Given the description of an element on the screen output the (x, y) to click on. 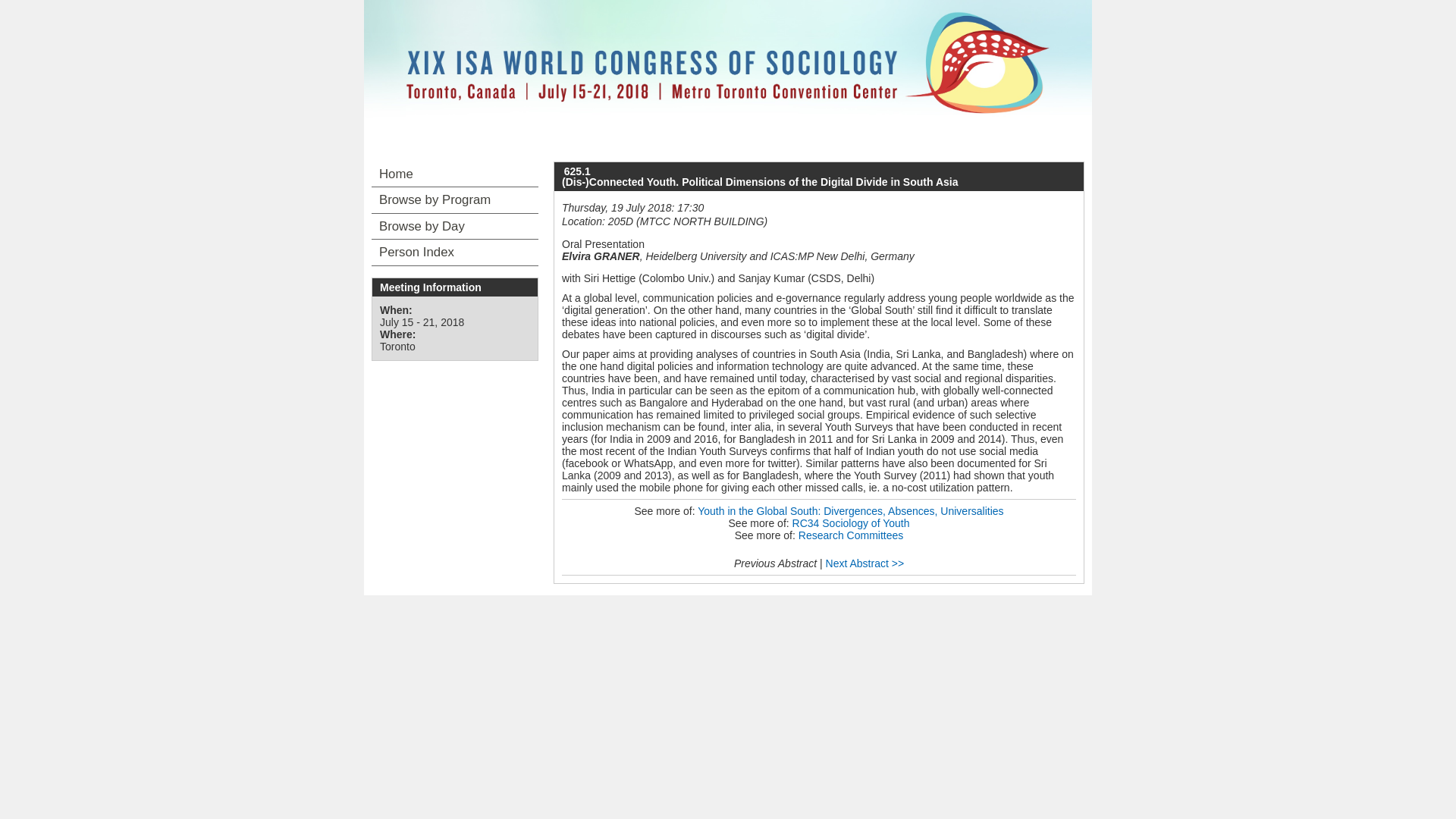
Person Index (454, 252)
Browse by Program (454, 199)
Research Committees (850, 535)
RC34 Sociology of Youth (851, 522)
Browse by Day (454, 226)
Home (454, 174)
